Given the description of an element on the screen output the (x, y) to click on. 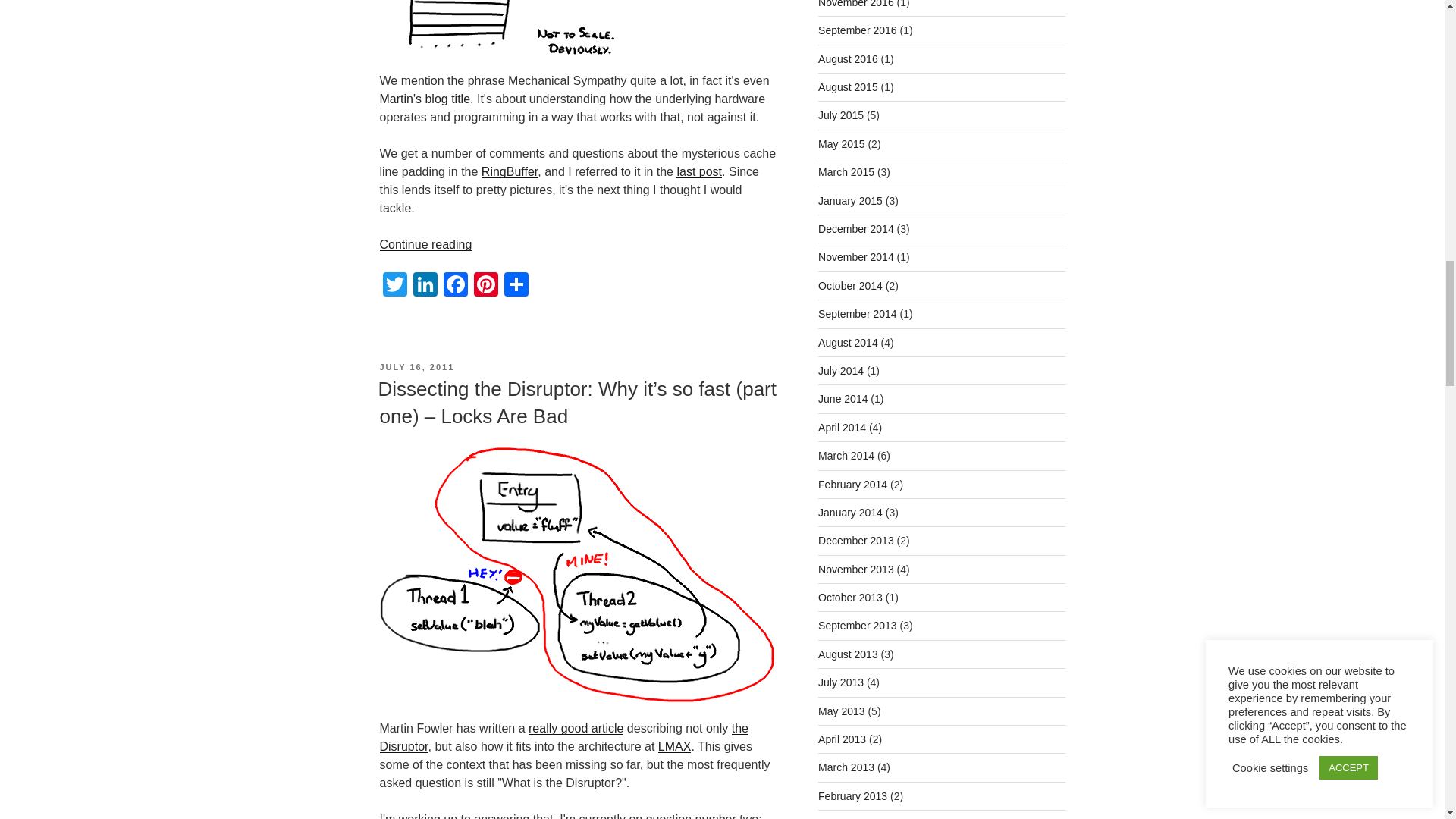
LinkedIn (424, 285)
Pinterest (485, 285)
Facebook (454, 285)
Twitter (393, 285)
